Given the description of an element on the screen output the (x, y) to click on. 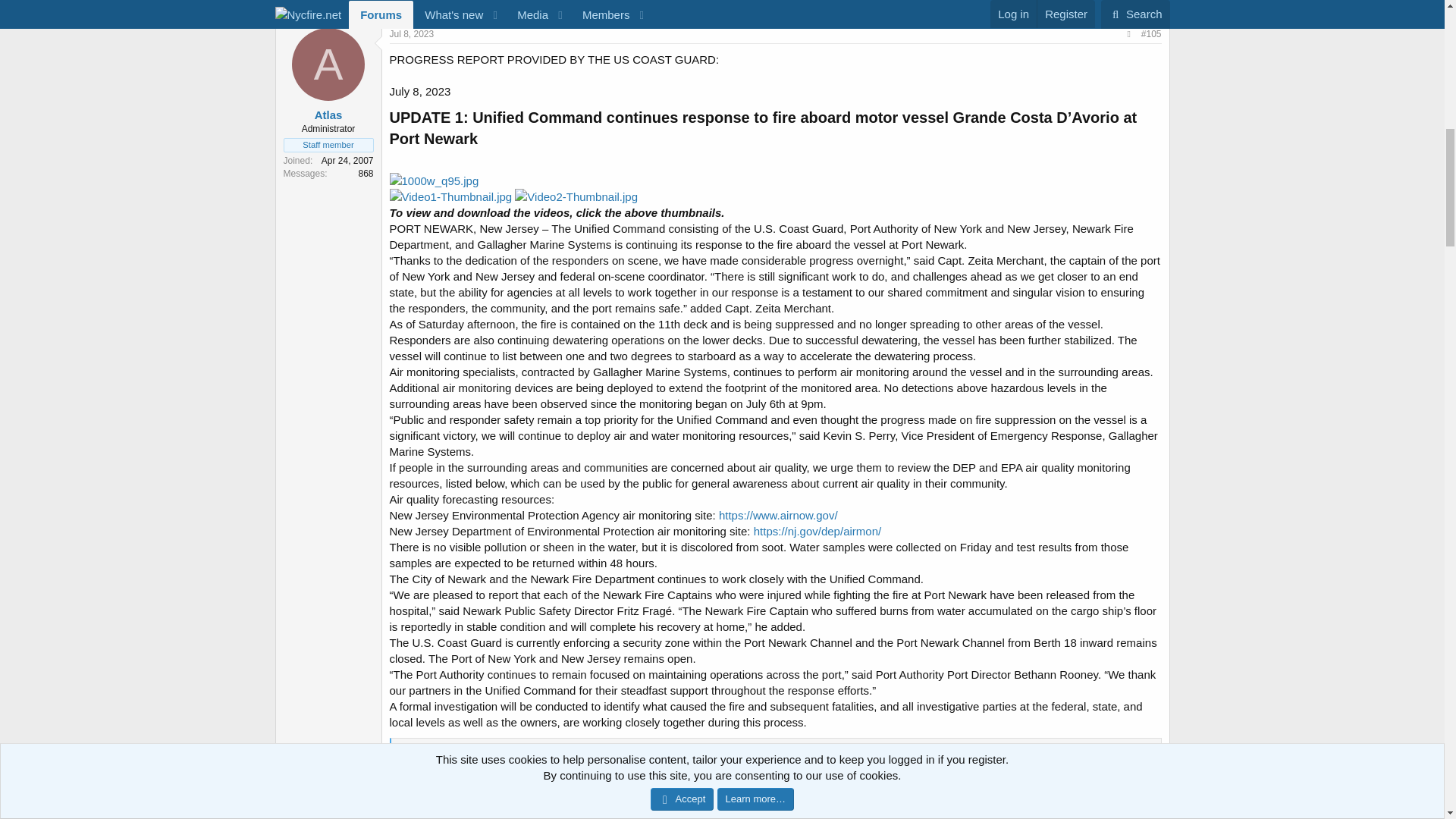
Video2-Thumbnail.jpg (576, 196)
Video1-Thumbnail.jpg (451, 196)
Jul 8, 2023 at 9:42 PM (411, 33)
